Given the description of an element on the screen output the (x, y) to click on. 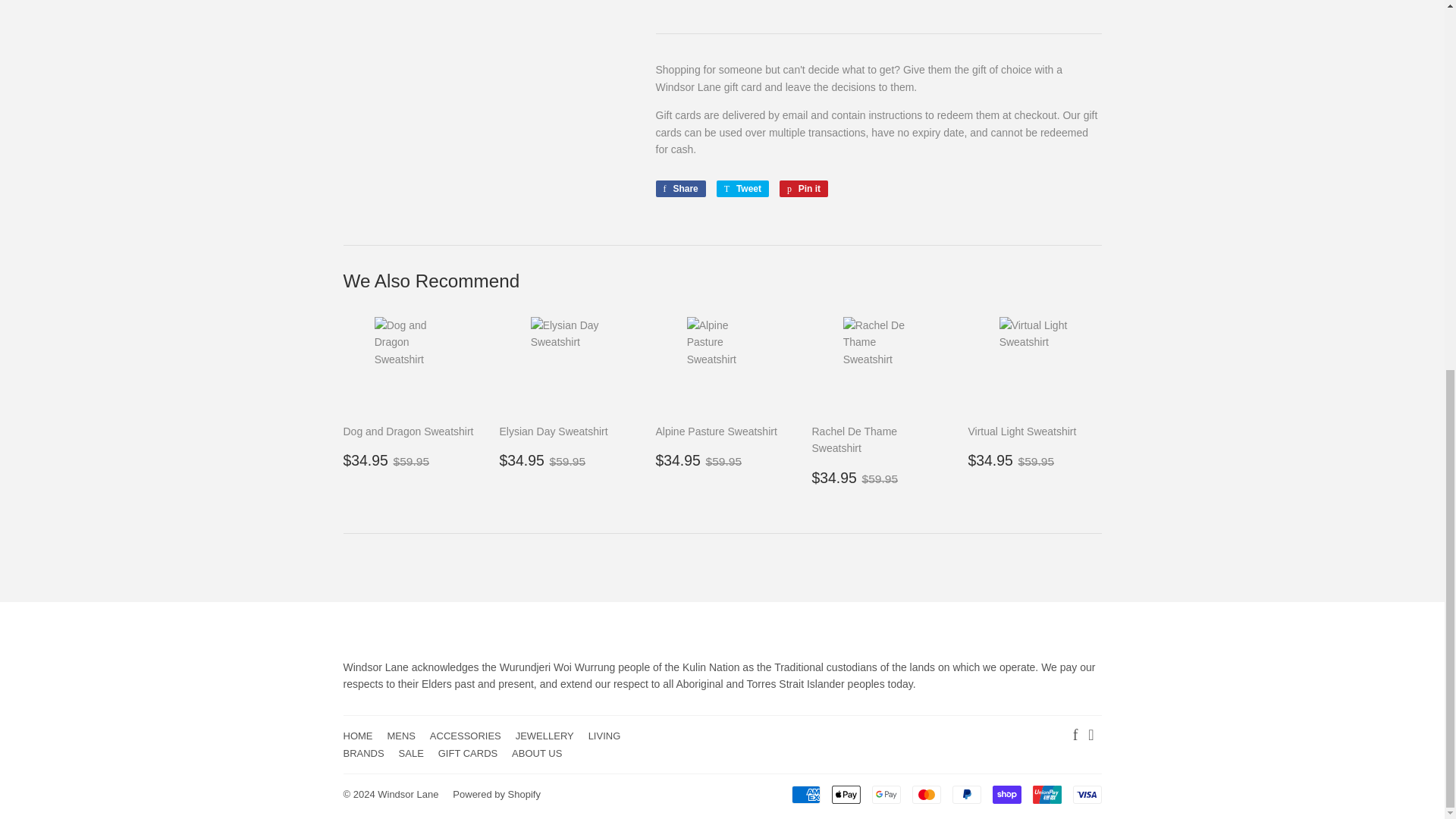
Visa (1085, 794)
PayPal (966, 794)
Share on Facebook (679, 188)
Pin on Pinterest (803, 188)
Apple Pay (845, 794)
Union Pay (1046, 794)
Google Pay (886, 794)
Mastercard (925, 794)
American Express (806, 794)
Tweet on Twitter (742, 188)
Shop Pay (1005, 794)
